Given the description of an element on the screen output the (x, y) to click on. 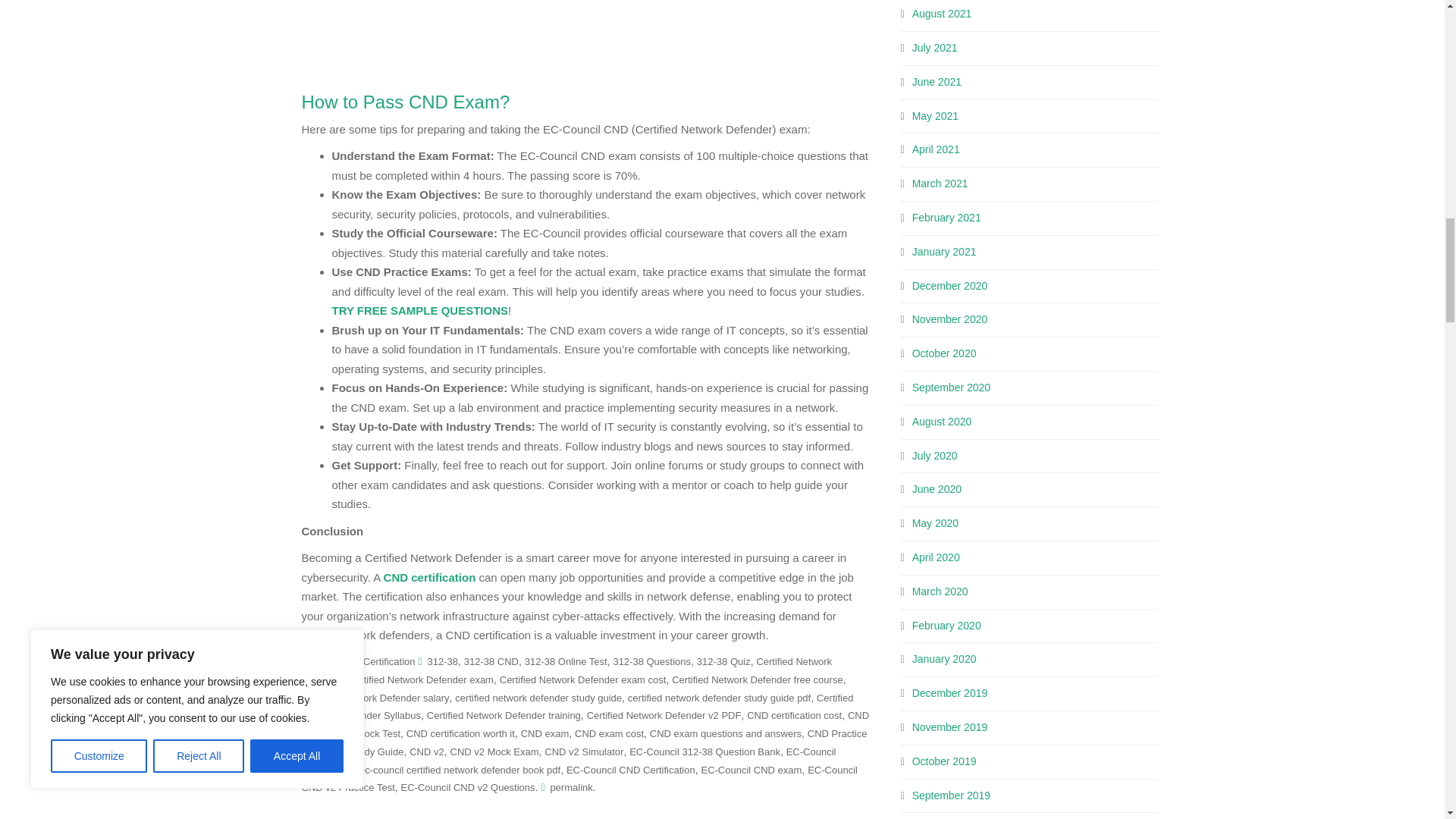
312-38 Online Test (565, 661)
CND certification (430, 576)
EC-Council Certification (362, 661)
312-38 (441, 661)
312-38 CND (491, 661)
Prepare for EC-Council 312-38 Exam with Study Guide (578, 35)
312-38 Questions (651, 661)
TRY FREE SAMPLE QUESTIONS (419, 309)
